Given the description of an element on the screen output the (x, y) to click on. 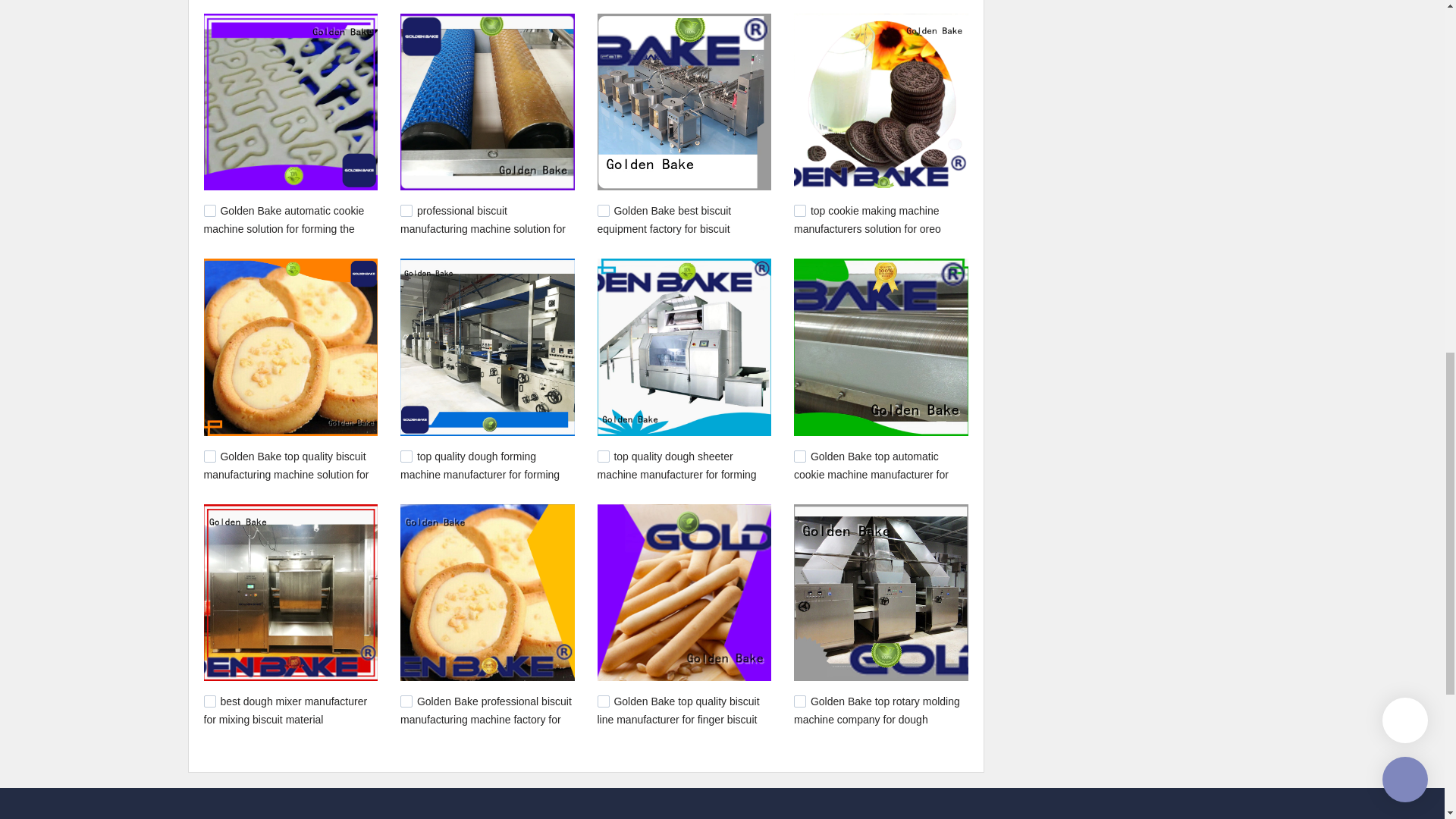
1640 (603, 456)
1875 (209, 210)
1567 (209, 701)
1267 (799, 701)
best dough mixer manufacturer for mixing biscuit material (284, 710)
1859 (603, 210)
1693 (209, 456)
1736 (799, 210)
